Given the description of an element on the screen output the (x, y) to click on. 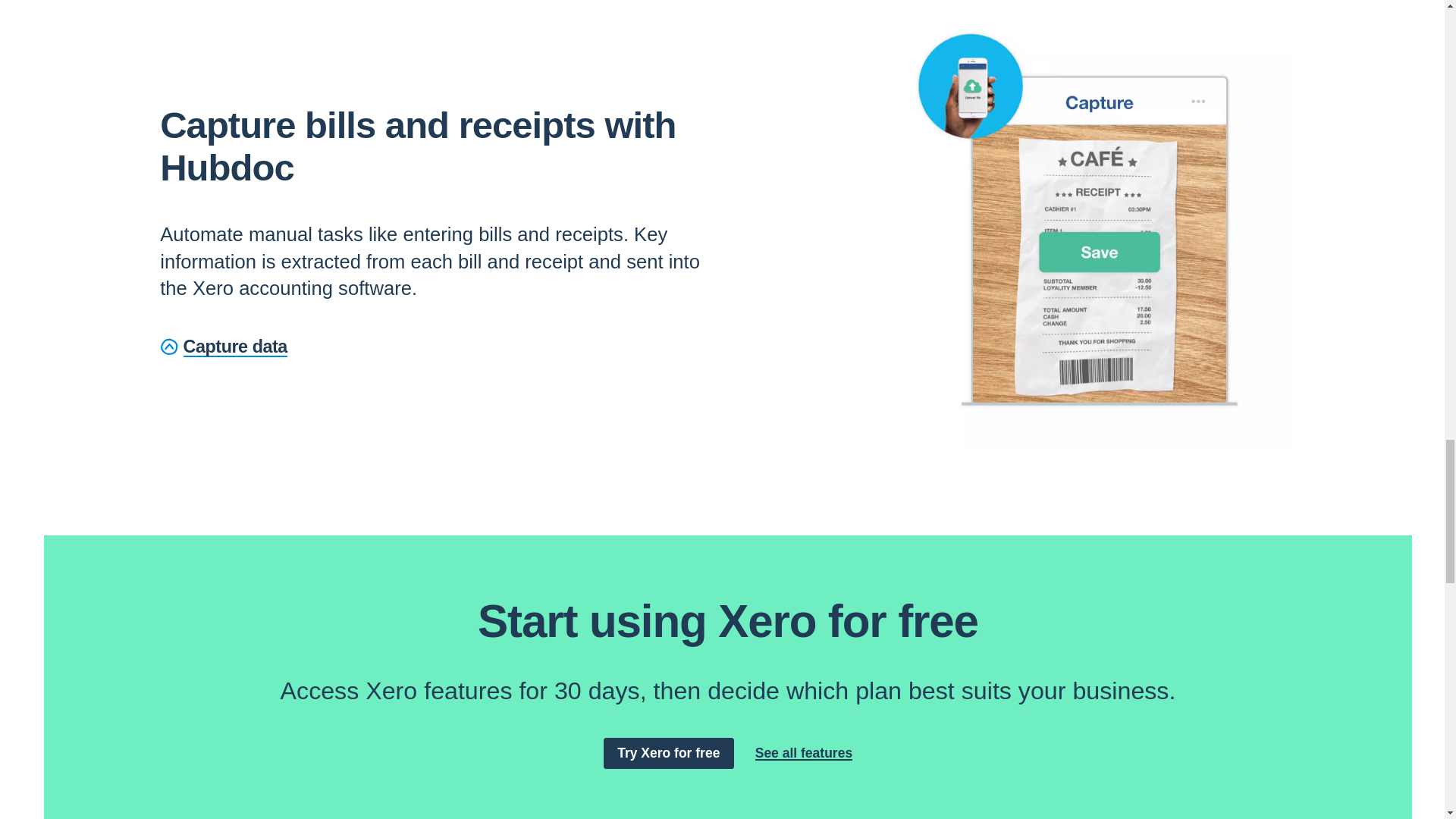
Capture data (223, 347)
See all features (803, 753)
Try Xero for free (668, 753)
